Given the description of an element on the screen output the (x, y) to click on. 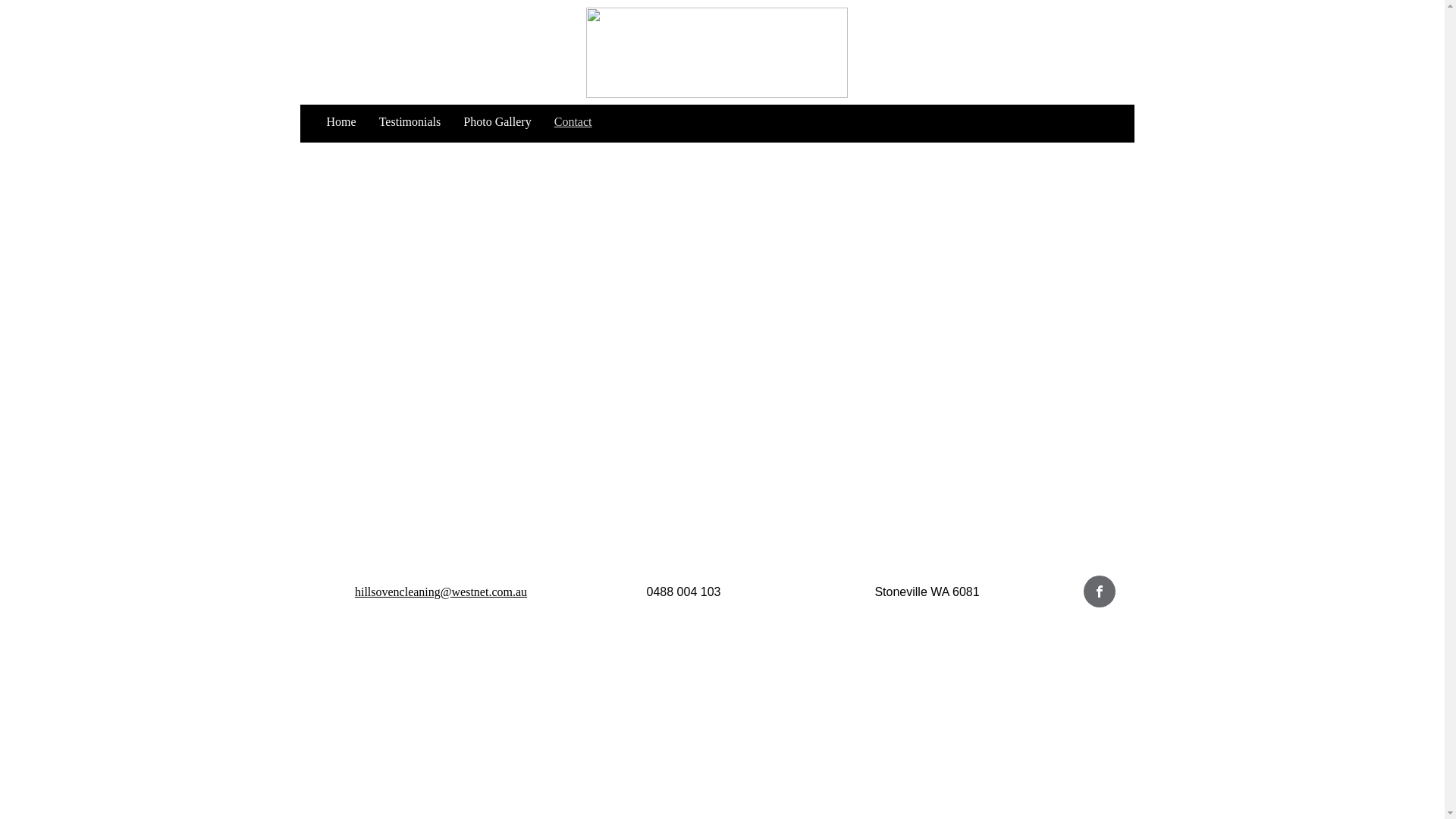
Contact Element type: text (572, 121)
Home Element type: text (341, 121)
Photo Gallery Element type: text (496, 121)
hillsovencleaning@westnet.com.au Element type: text (440, 591)
Testimonials Element type: text (409, 121)
